Given the description of an element on the screen output the (x, y) to click on. 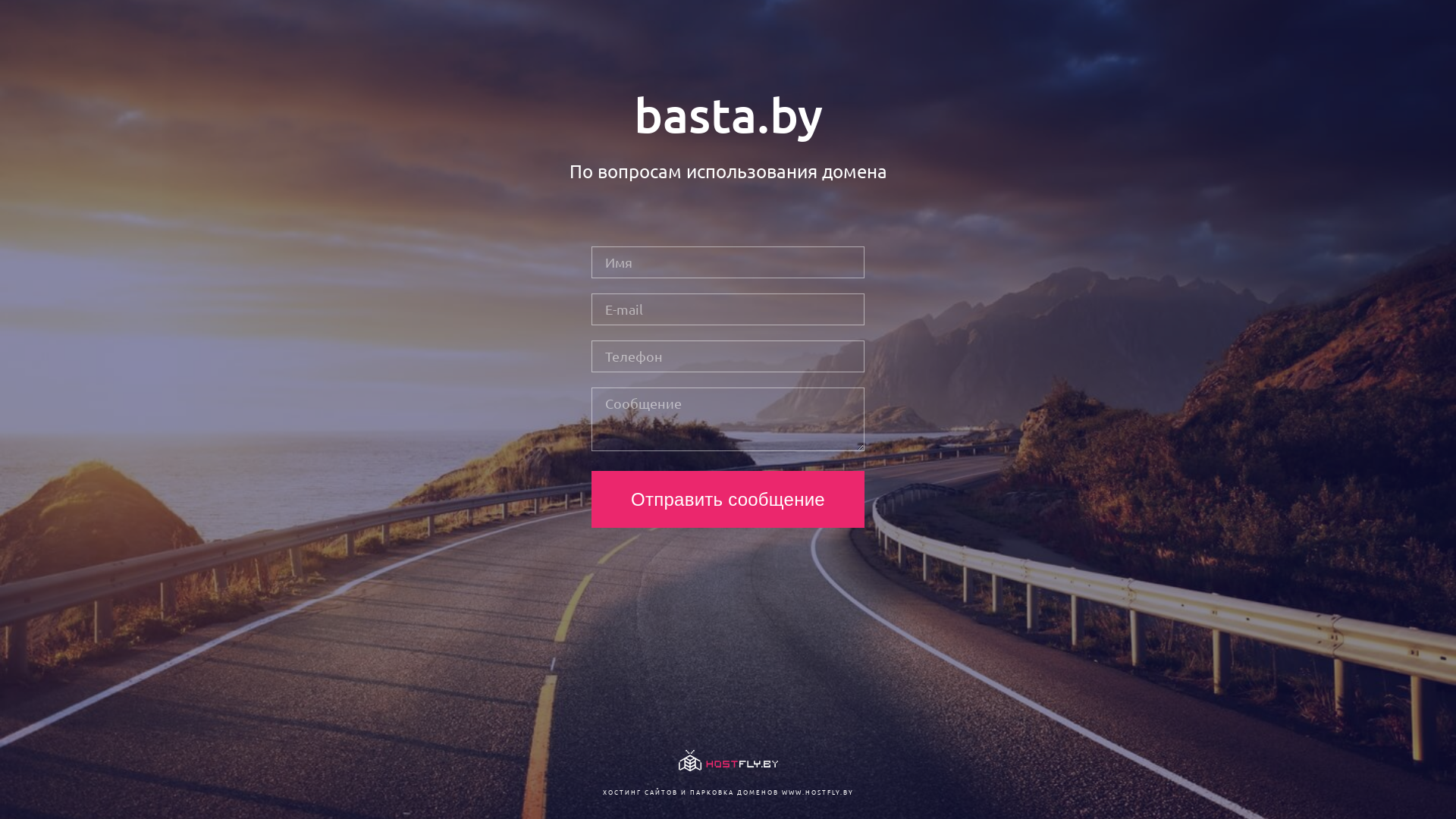
WWW.HOSTFLY.BY Element type: text (817, 791)
